Given the description of an element on the screen output the (x, y) to click on. 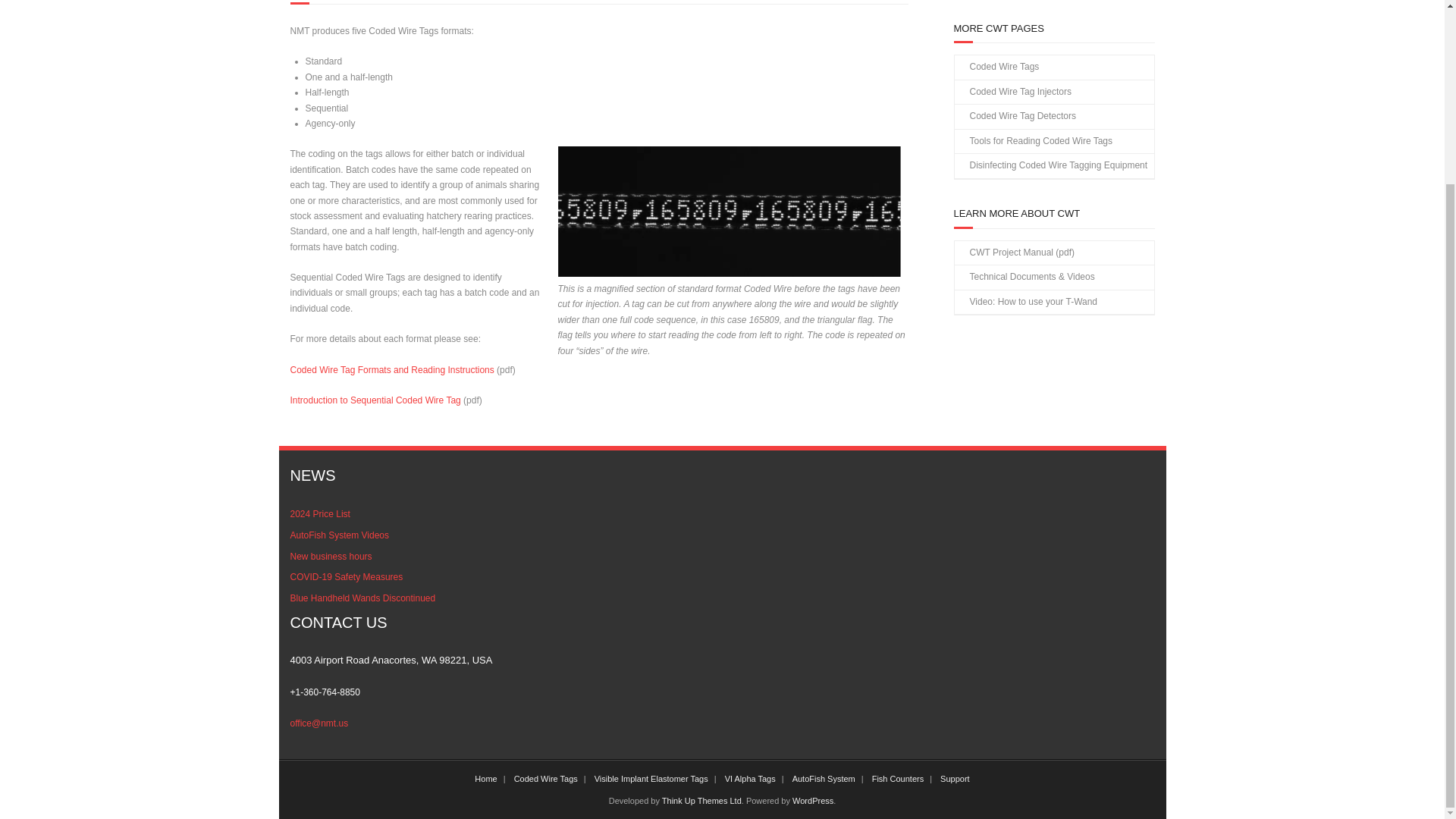
Introduction to Sequential Coded Wire Tag (374, 399)
Coded Wire Tag Formats and Reading Instructions (391, 369)
Coded Wire Tag Detectors (1014, 116)
Tools for Reading Coded Wire Tags (1032, 141)
Coded Wire Tags (996, 67)
Coded Wire Tag Injectors (1012, 92)
Disinfecting Coded Wire Tagging Equipment (1050, 165)
